Given the description of an element on the screen output the (x, y) to click on. 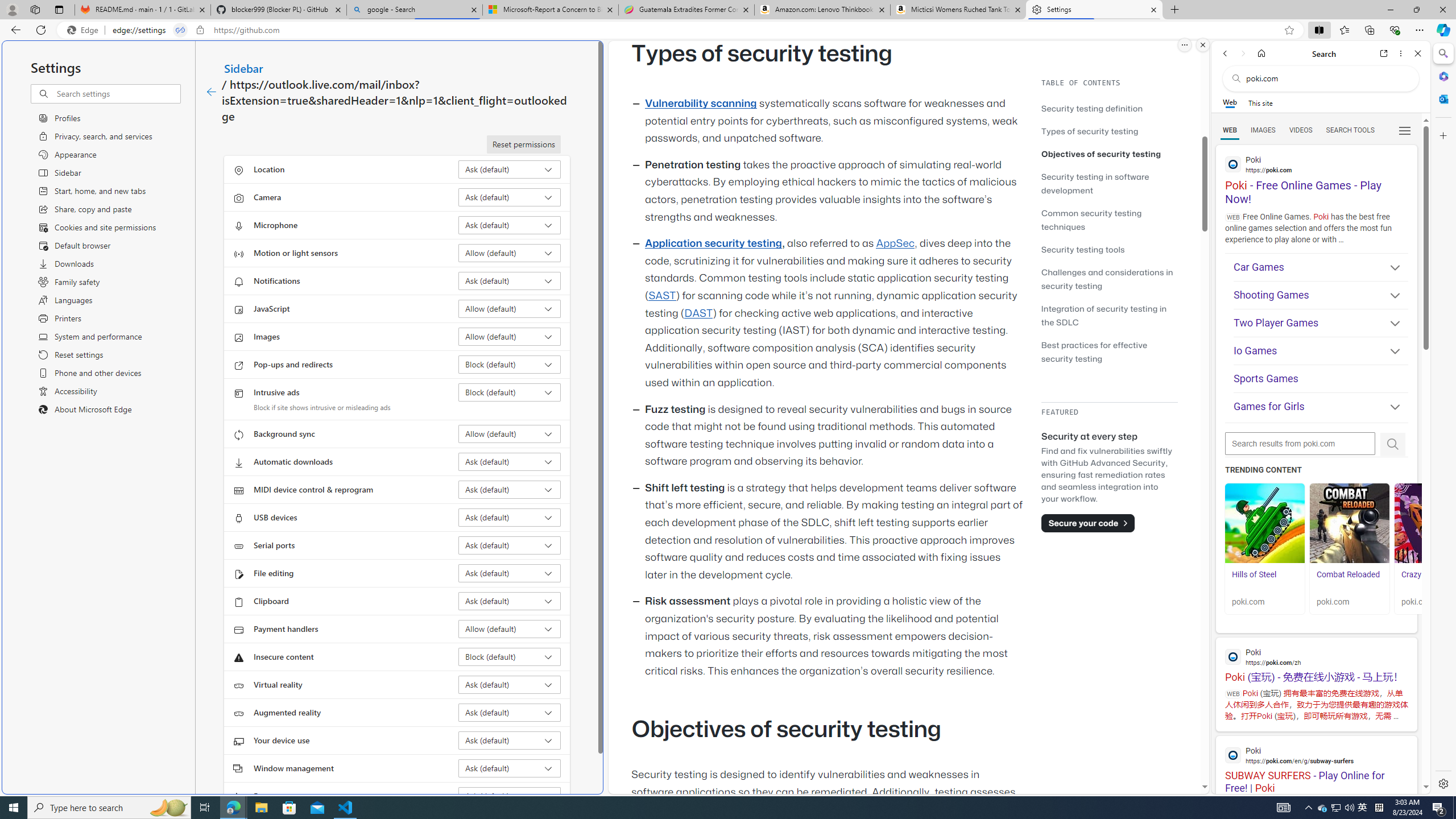
AppSec (895, 243)
Reset permissions (523, 144)
Automatic downloads Ask (default) (509, 461)
Fonts Ask (default) (509, 796)
Preferences (1403, 129)
Click to scroll right (1407, 549)
Games for Girls (1320, 407)
Tabs in split screen (180, 29)
Security testing in software development (1109, 183)
Payment handlers Allow (default) (509, 628)
Security testing in software development (1094, 182)
